Given the description of an element on the screen output the (x, y) to click on. 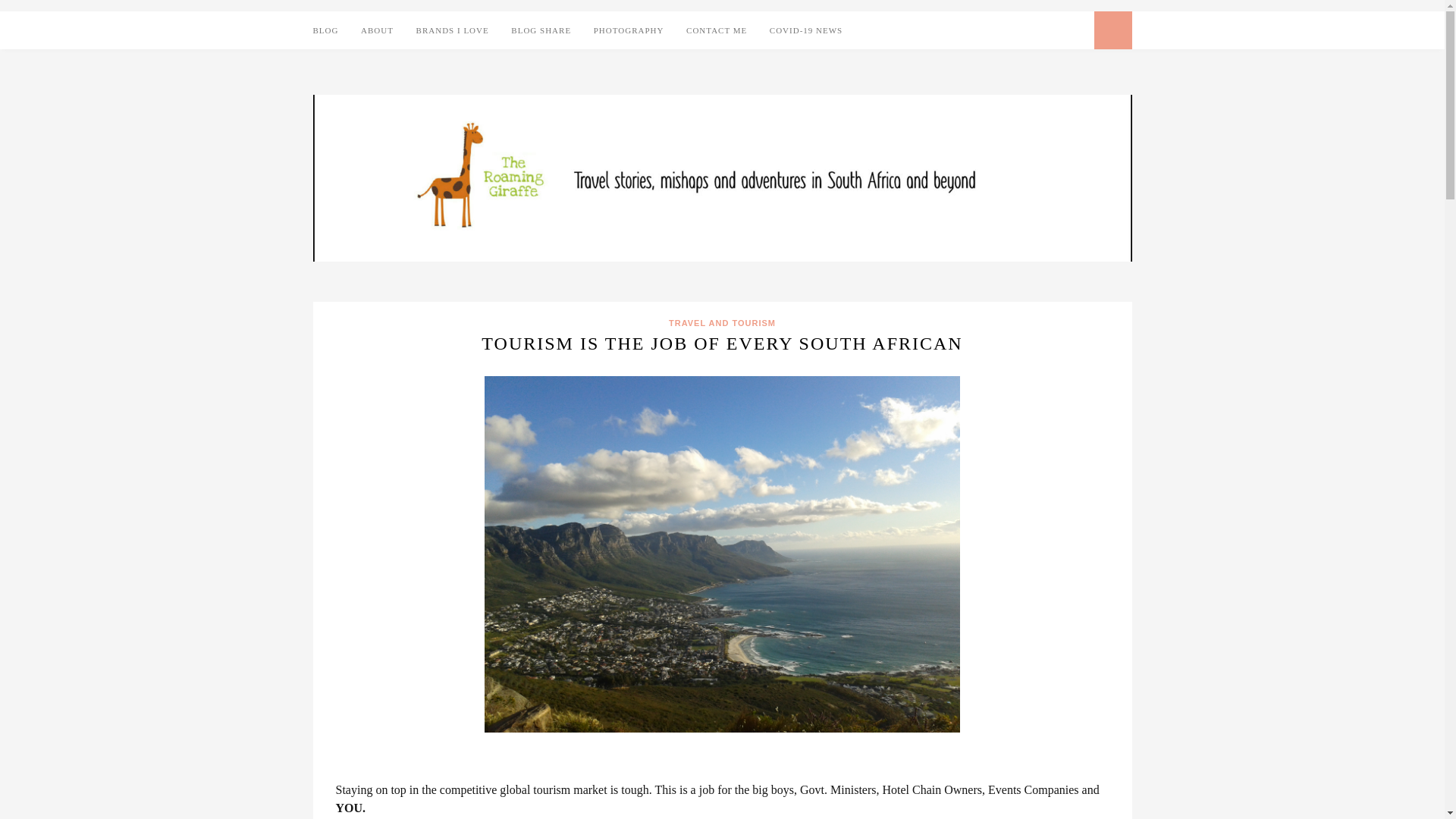
BRANDS I LOVE (452, 30)
TRAVEL AND TOURISM (722, 322)
PHOTOGRAPHY (628, 30)
CONTACT ME (715, 30)
COVID-19 NEWS (806, 30)
BLOG SHARE (540, 30)
